Given the description of an element on the screen output the (x, y) to click on. 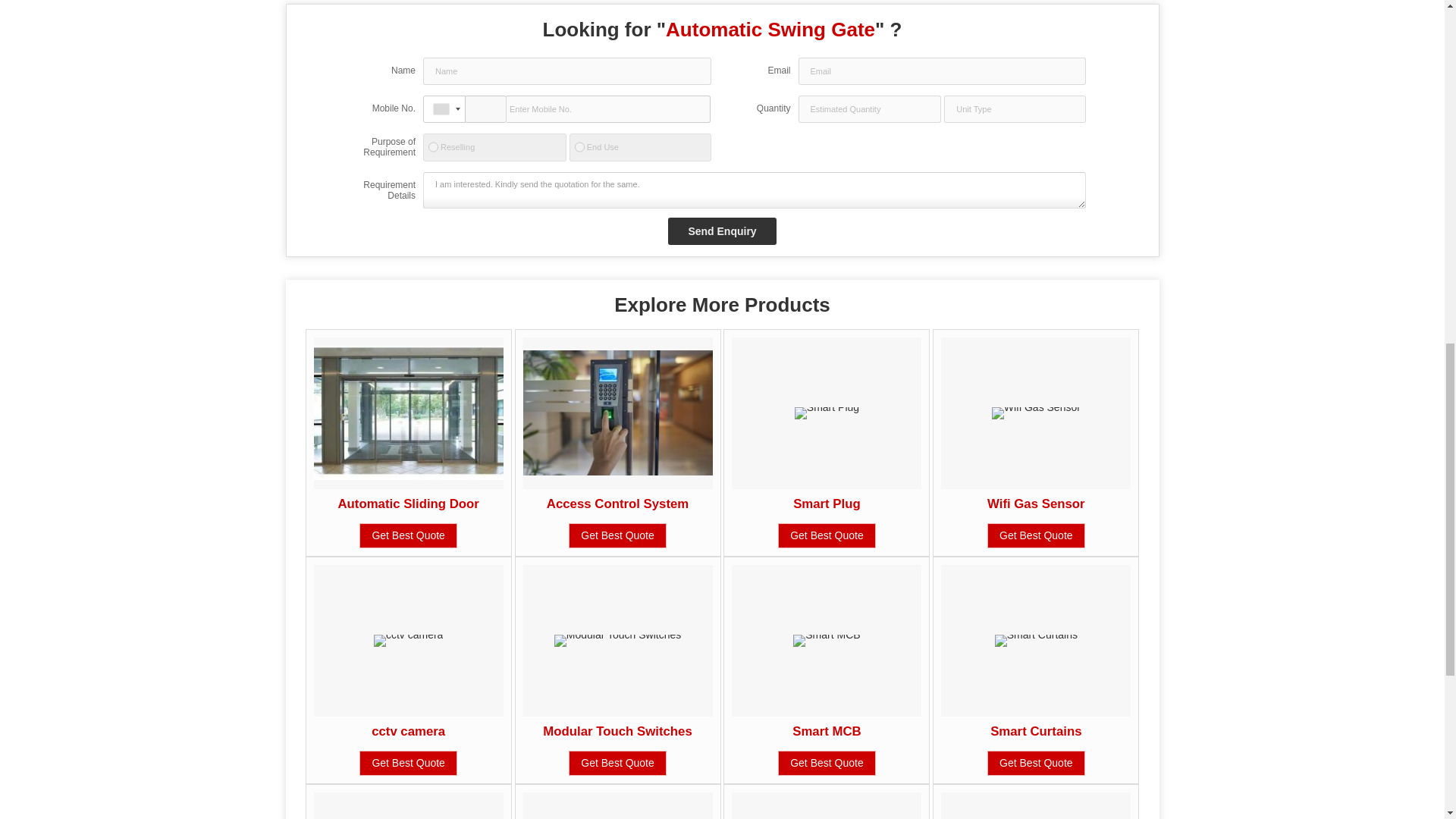
Send Enquiry (722, 230)
